Given the description of an element on the screen output the (x, y) to click on. 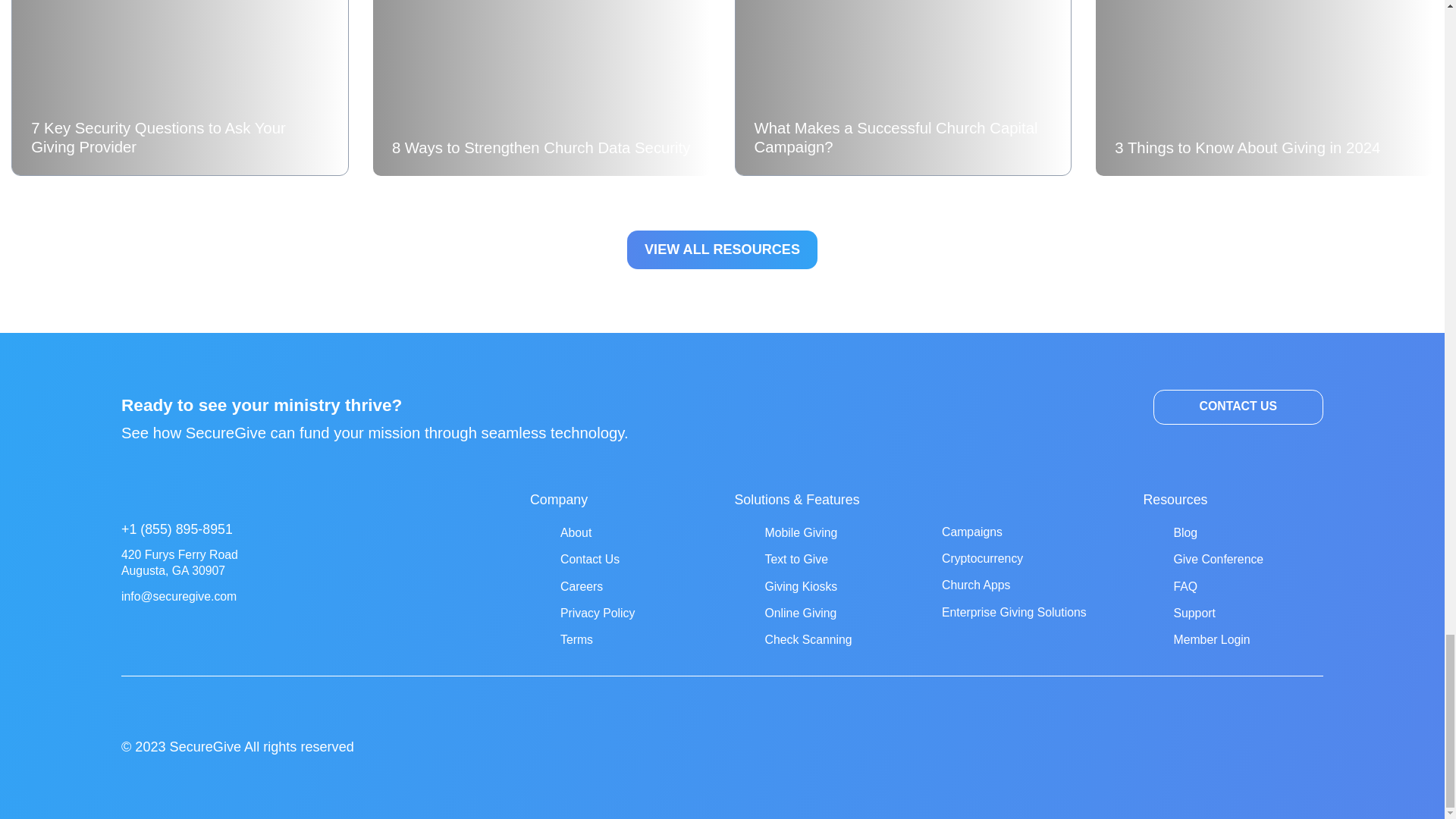
3 Things to Know About Giving in 2024 (1264, 88)
About (575, 532)
Contact Us (590, 558)
Visit us on Facebook  (1139, 753)
8 Ways to Strengthen Church Data Security (541, 88)
7 Key Security Questions to Ask Your Giving Provider (180, 88)
CONTACT US (1238, 407)
VIEW ALL RESOURCES (721, 249)
Visit us on Twitter  (1297, 753)
Visit us on Linkedin  (1258, 753)
